Given the description of an element on the screen output the (x, y) to click on. 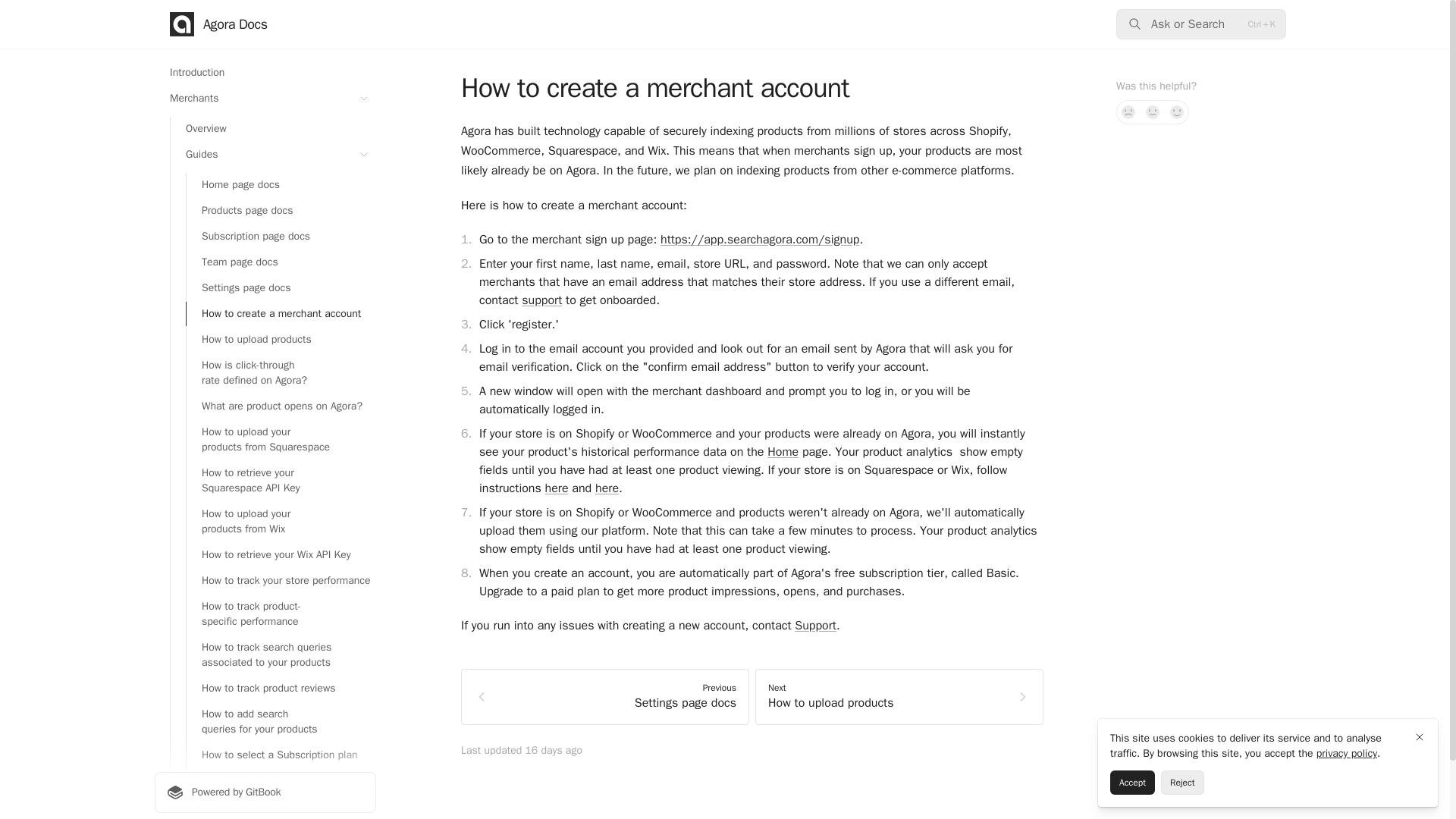
How to create a merchant account (280, 313)
Home page docs (280, 184)
Agora Docs (218, 24)
Products page docs (280, 210)
How is Agora different from Google advertising? (280, 806)
Why upgrade to a Subscription plan (280, 781)
How to track search queries associated to your products (280, 654)
Merchants (264, 98)
Team page docs (280, 262)
How to select a Subscription plan (280, 754)
